Given the description of an element on the screen output the (x, y) to click on. 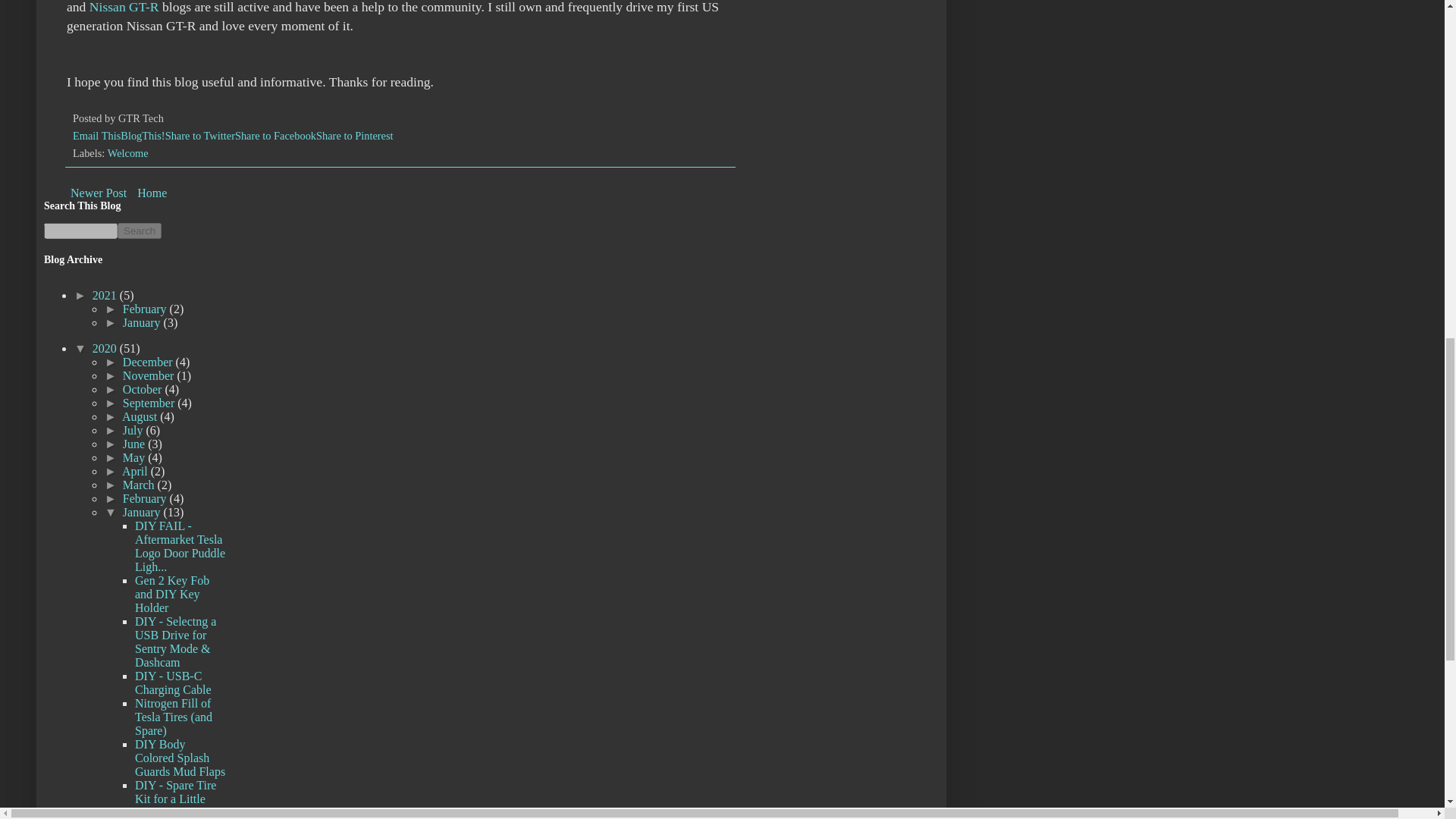
search (139, 230)
November (149, 375)
Share to Pinterest (354, 135)
Newer Post (98, 192)
Nissan GT-R (123, 7)
February (146, 308)
August (141, 416)
Newer Post (98, 192)
Share to Pinterest (354, 135)
2020 (106, 348)
December (149, 361)
Share to Twitter (199, 135)
Welcome (127, 152)
Search (139, 230)
Email This (96, 135)
